Given the description of an element on the screen output the (x, y) to click on. 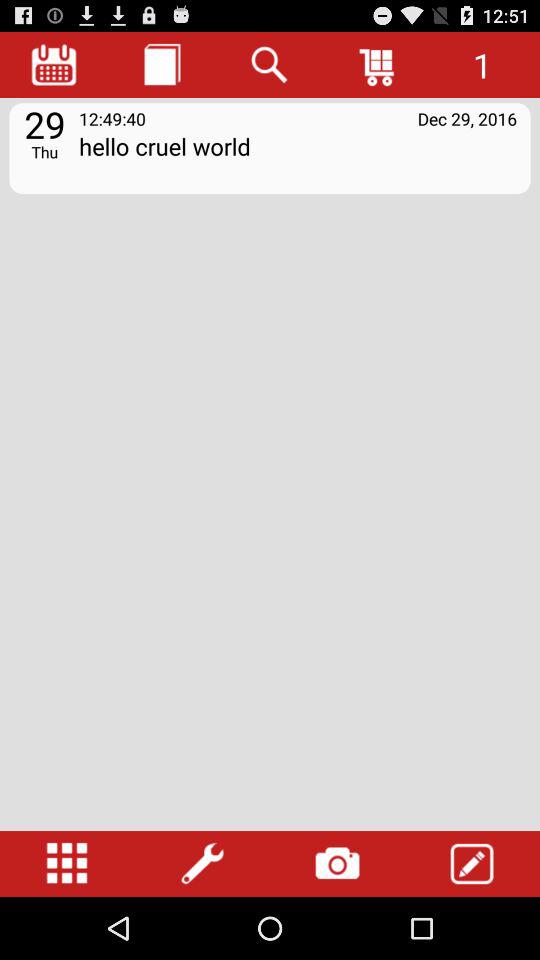
write a comment (472, 863)
